Given the description of an element on the screen output the (x, y) to click on. 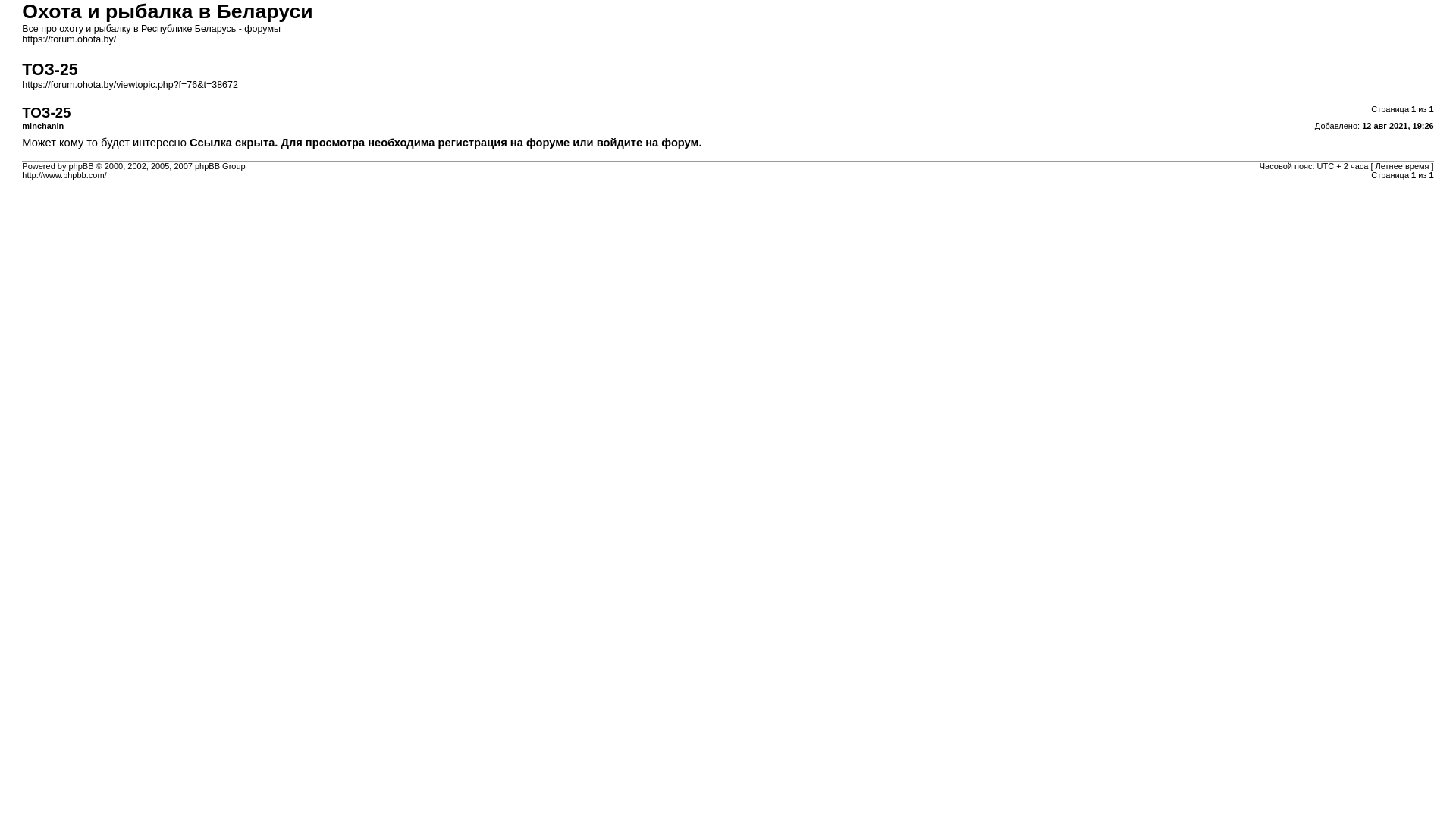
https://forum.ohota.by/viewtopic.php?f=76&t=38672 Element type: text (129, 84)
https://forum.ohota.by/ Element type: text (68, 39)
